Given the description of an element on the screen output the (x, y) to click on. 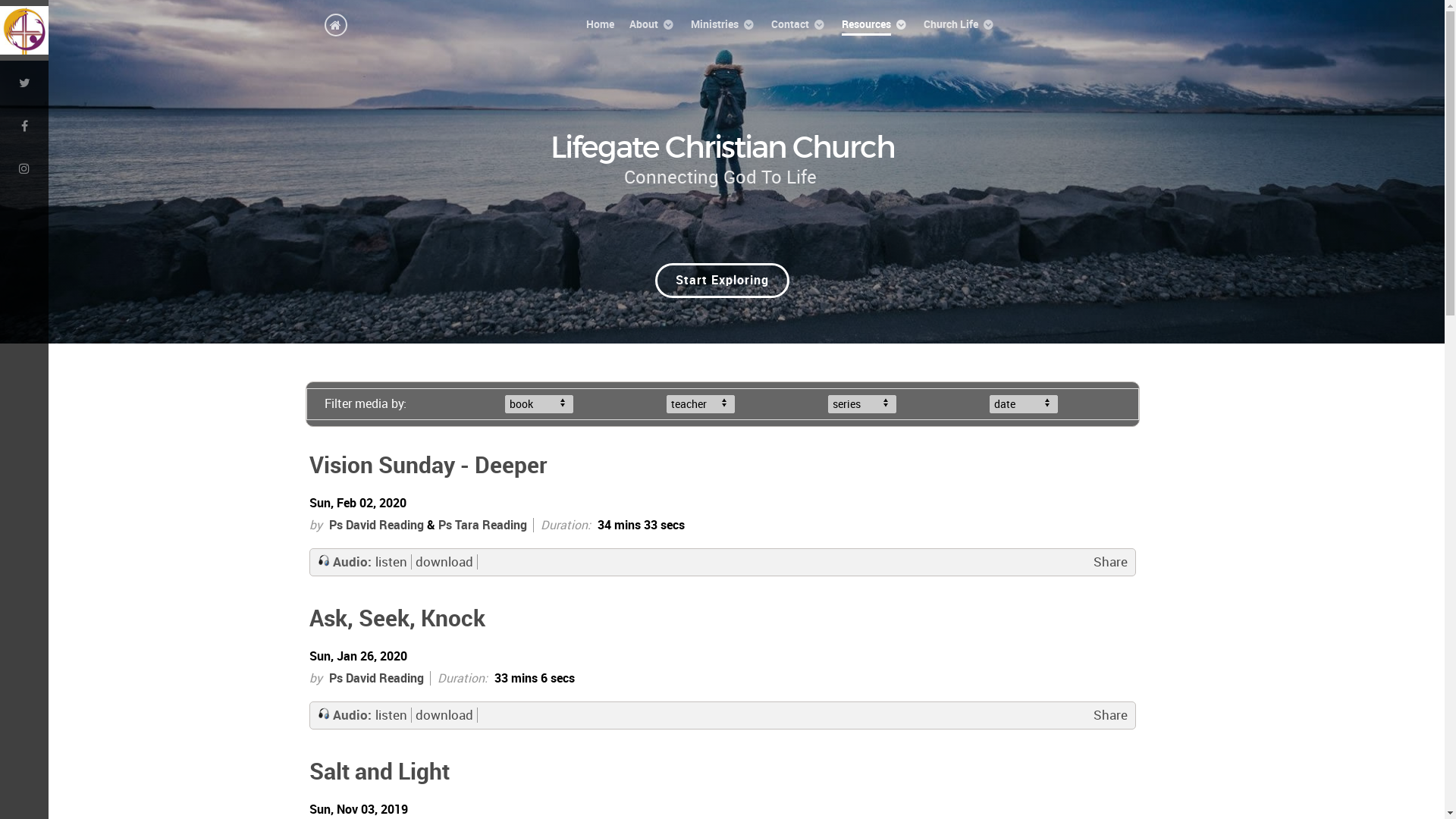
Share Element type: text (1110, 714)
listen Element type: text (391, 714)
teacher Element type: text (700, 404)
Salt and Light Element type: text (379, 770)
Ps David Reading Element type: text (376, 678)
Home Element type: text (599, 24)
Ps Tara Reading Element type: text (482, 524)
Vision Sunday - Deeper Element type: text (428, 464)
Share Element type: text (1110, 561)
book Element type: text (539, 404)
date Element type: text (1023, 404)
download Element type: text (443, 561)
Ps David Reading Element type: text (376, 524)
Start Exploring Element type: text (722, 280)
Ask, Seek, Knock Element type: text (397, 617)
Contact Element type: text (797, 23)
series Element type: text (862, 404)
download Element type: text (443, 714)
listen Element type: text (391, 561)
